Given the description of an element on the screen output the (x, y) to click on. 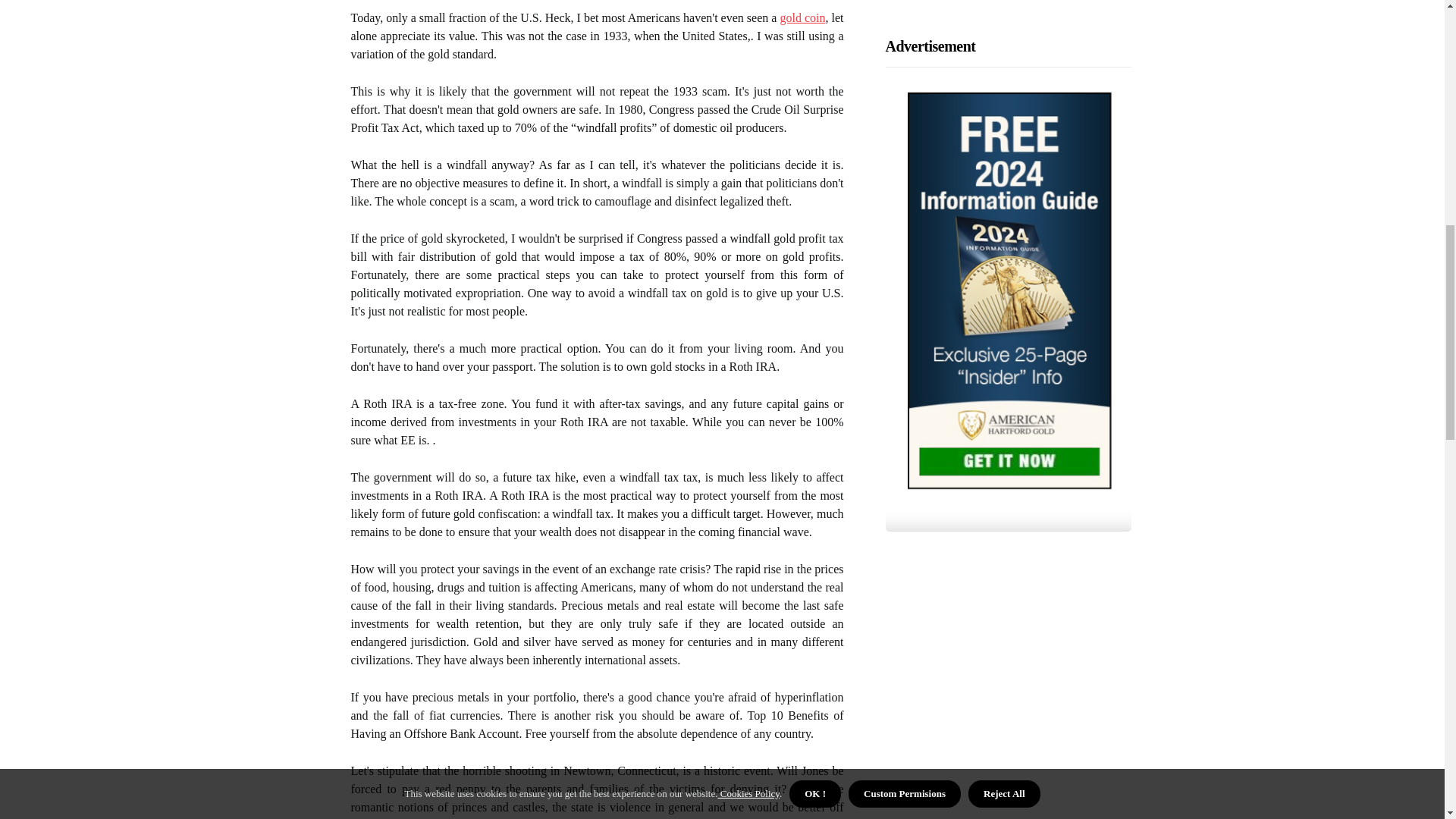
gold coin (801, 16)
